Given the description of an element on the screen output the (x, y) to click on. 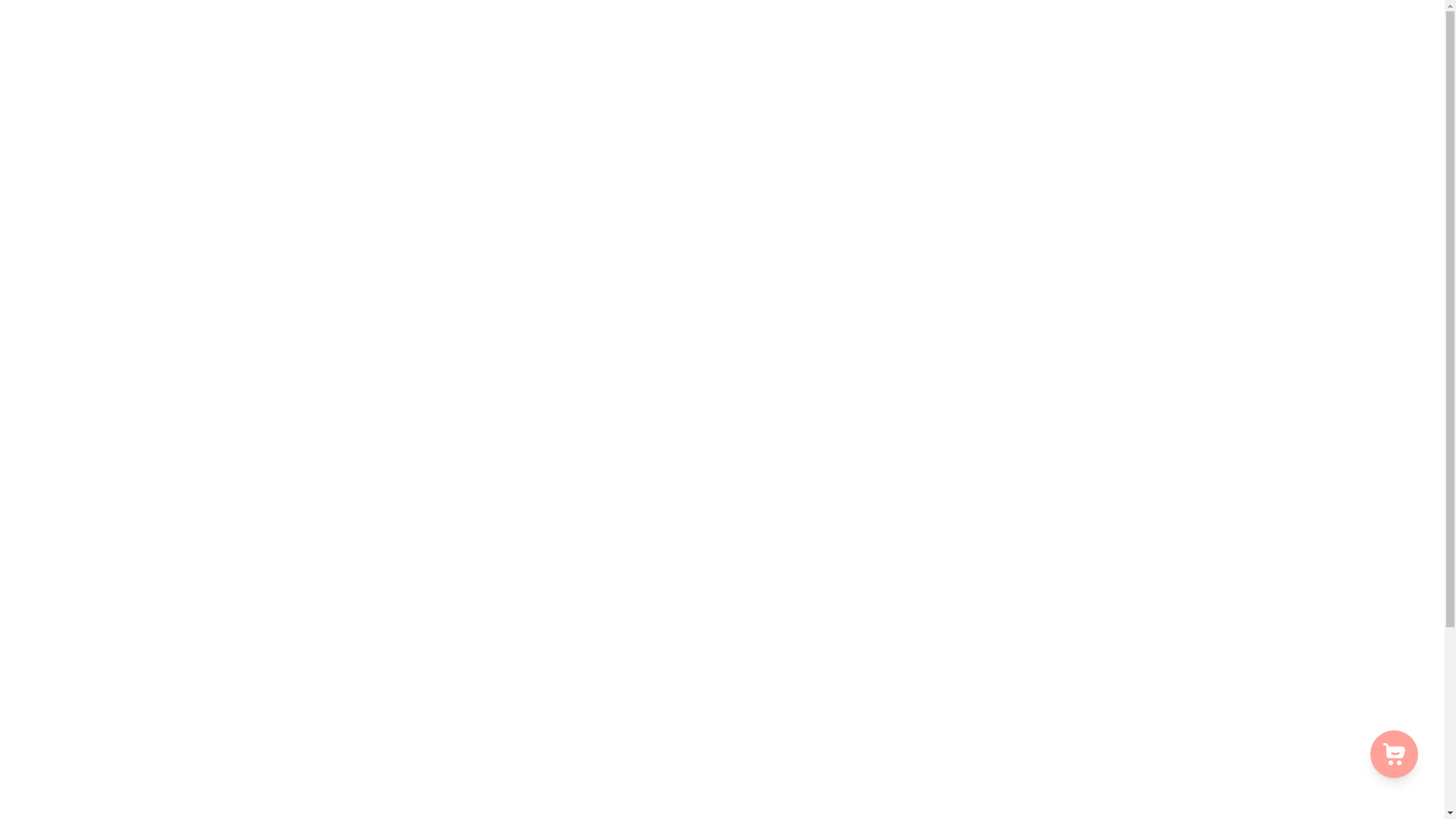
FREE SHIPPING OVER $68 Element type: text (721, 28)
Terms & Privacy Element type: text (422, 683)
0 Element type: text (1398, 63)
Reviews Element type: text (1074, 64)
Home Element type: text (815, 64)
Search Element type: text (401, 706)
About Element type: text (1004, 64)
Older Post Element type: text (478, 456)
What's New Element type: text (940, 64)
AUD $ Element type: text (717, 804)
Shipping & FAQ Element type: text (421, 635)
Shop Element type: text (862, 64)
How to Wear Element type: text (1146, 64)
Find a retailer Element type: text (416, 730)
Contact Element type: text (1270, 64)
Stockists Login Element type: text (419, 658)
Newer Post Element type: text (963, 456)
Journal Element type: text (1215, 64)
Louvelle Australia Element type: hover (450, 421)
Shore Club Element type: text (1379, 662)
